Given the description of an element on the screen output the (x, y) to click on. 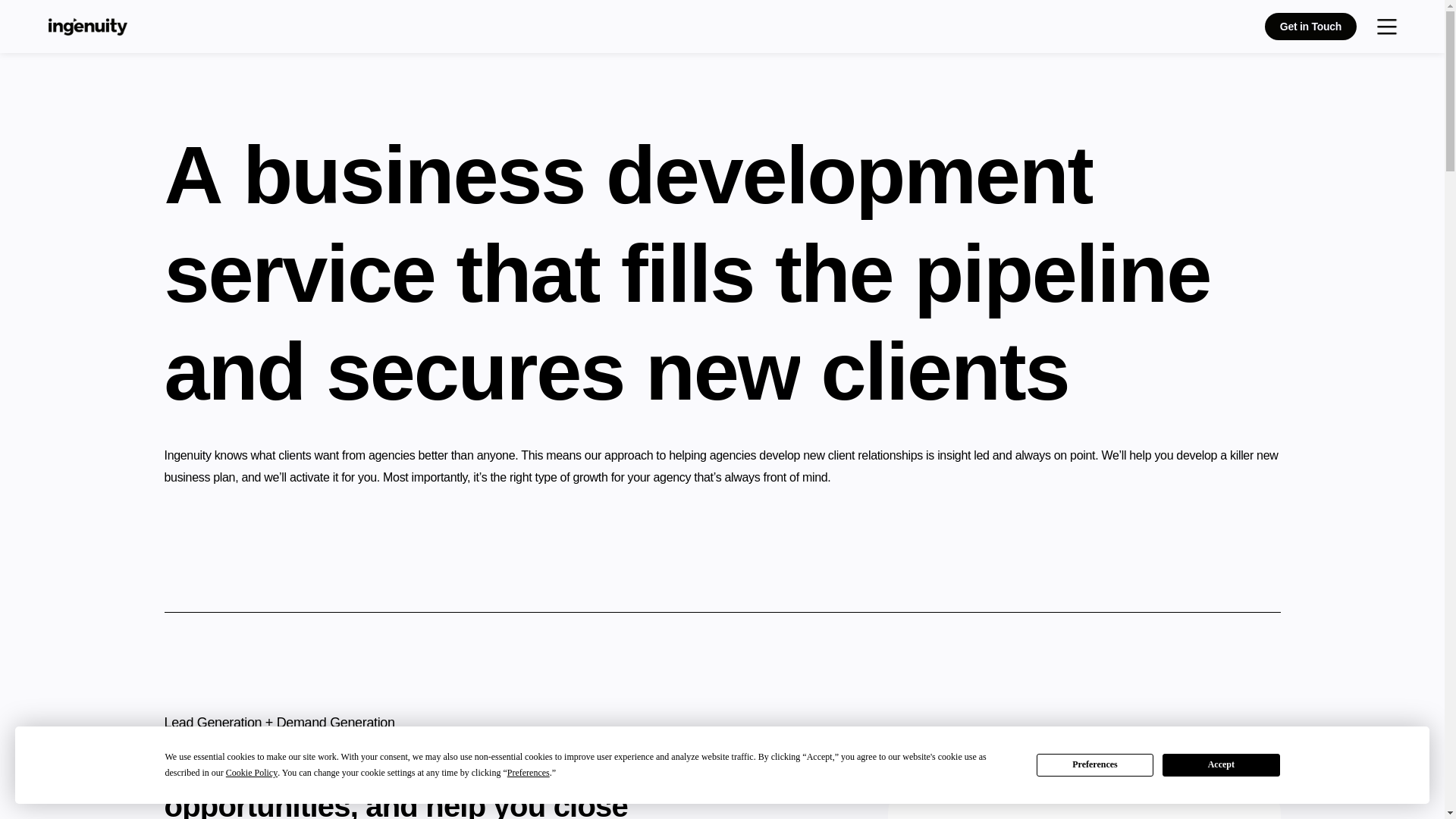
Accept (1220, 765)
Preferences (1094, 765)
